Given the description of an element on the screen output the (x, y) to click on. 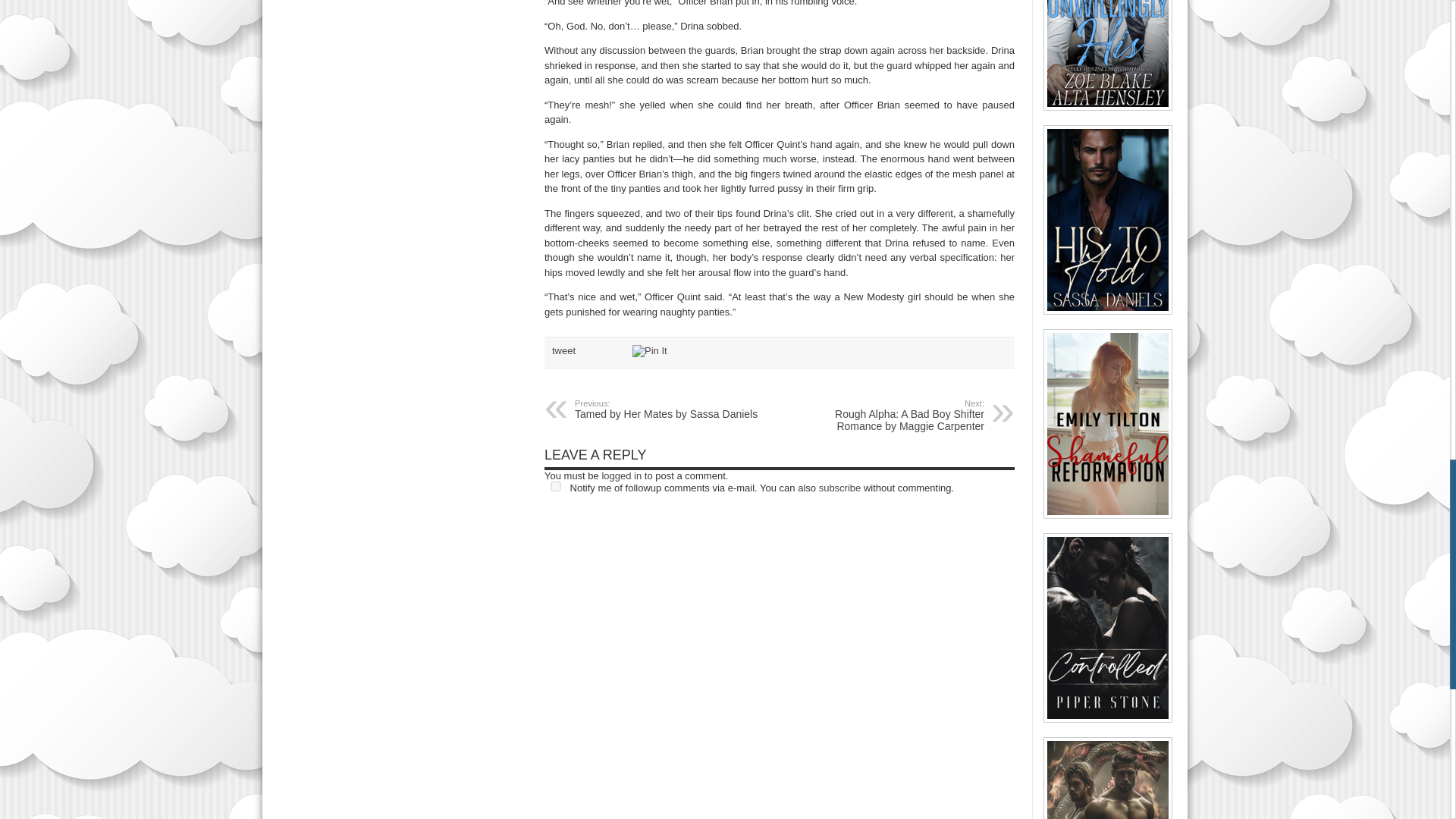
yes (555, 486)
Pin It (648, 350)
